Given the description of an element on the screen output the (x, y) to click on. 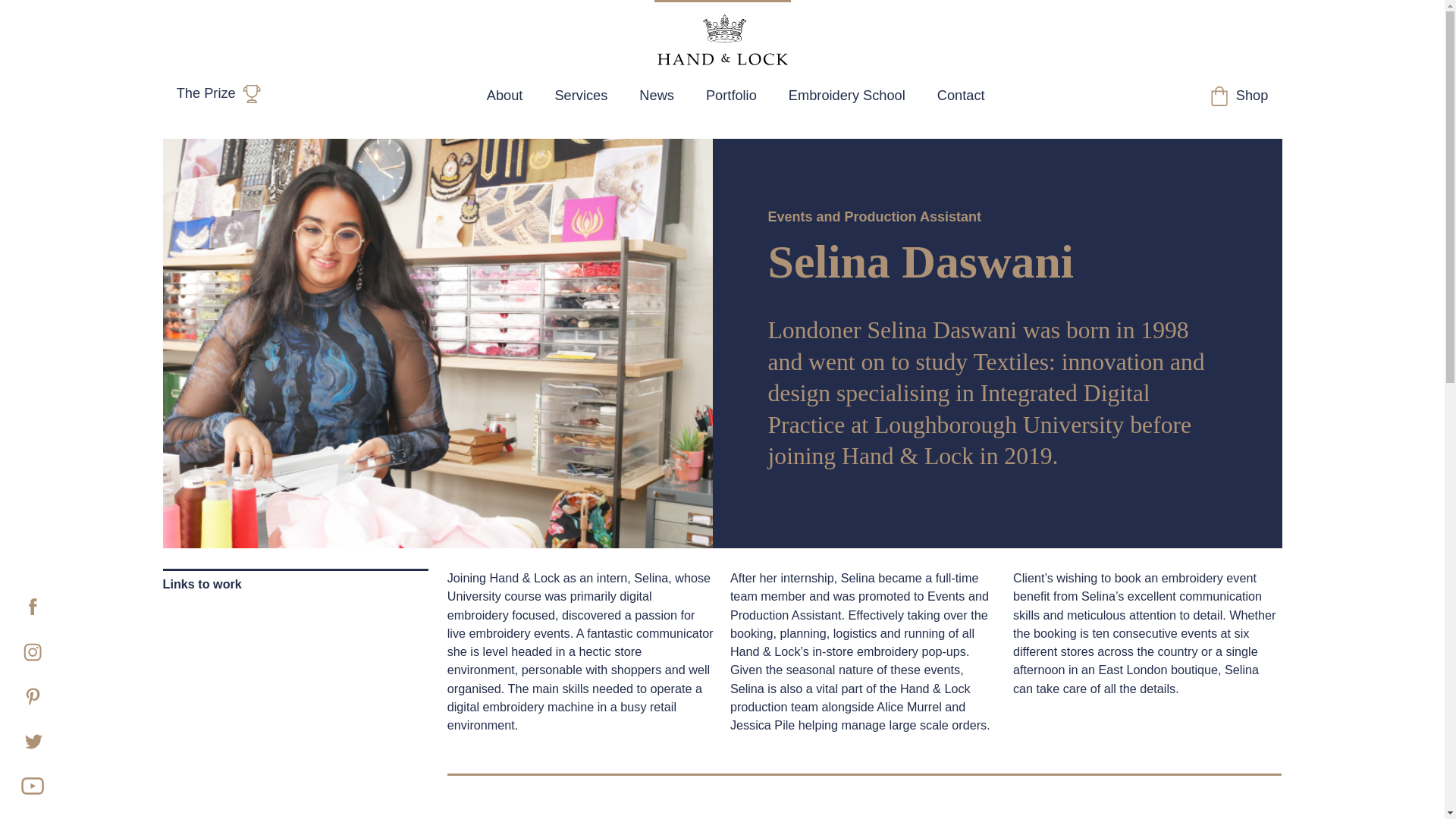
Instagram (26, 645)
News (657, 96)
Facebook (26, 600)
The Prize (218, 98)
Services (581, 96)
Portfolio (730, 96)
YouTube (26, 780)
Twitter (26, 735)
Contact (960, 96)
Pinterest (26, 690)
Shop (1239, 100)
About (504, 96)
Embroidery School (846, 96)
